Given the description of an element on the screen output the (x, y) to click on. 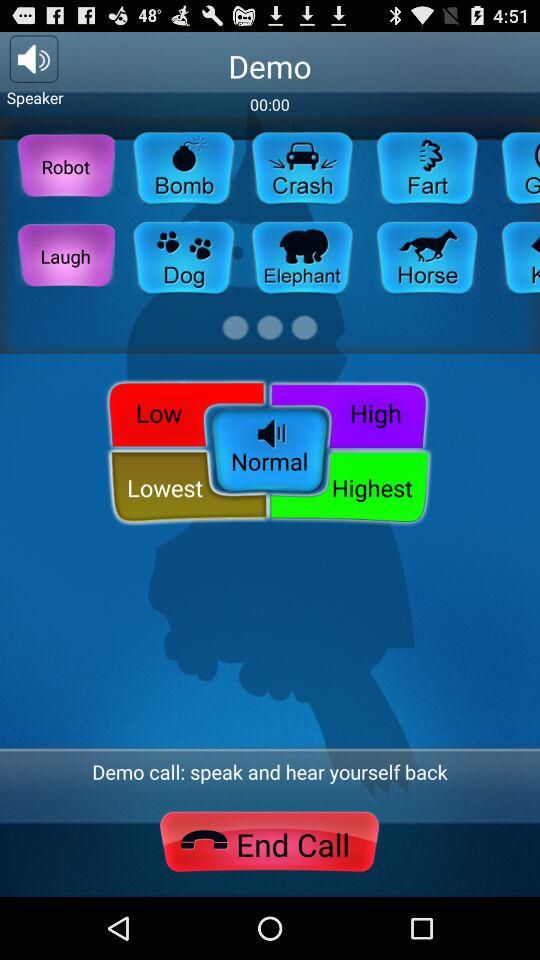
open lowest button (188, 487)
